Given the description of an element on the screen output the (x, y) to click on. 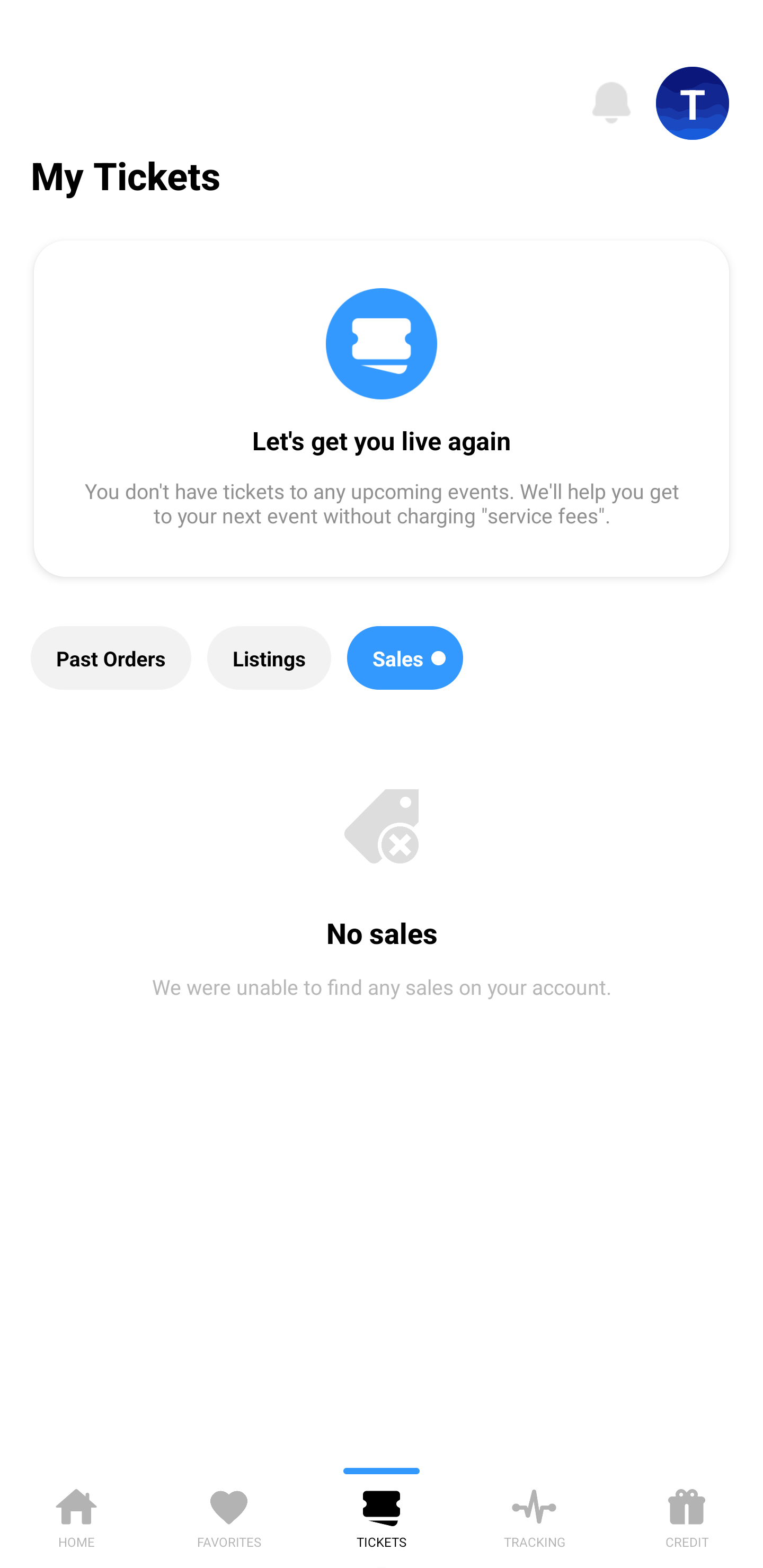
T (692, 103)
Past Orders (110, 657)
Listings (269, 657)
Sales (405, 657)
HOME (76, 1515)
FAVORITES (228, 1515)
TICKETS (381, 1515)
TRACKING (533, 1515)
CREDIT (686, 1515)
